Given the description of an element on the screen output the (x, y) to click on. 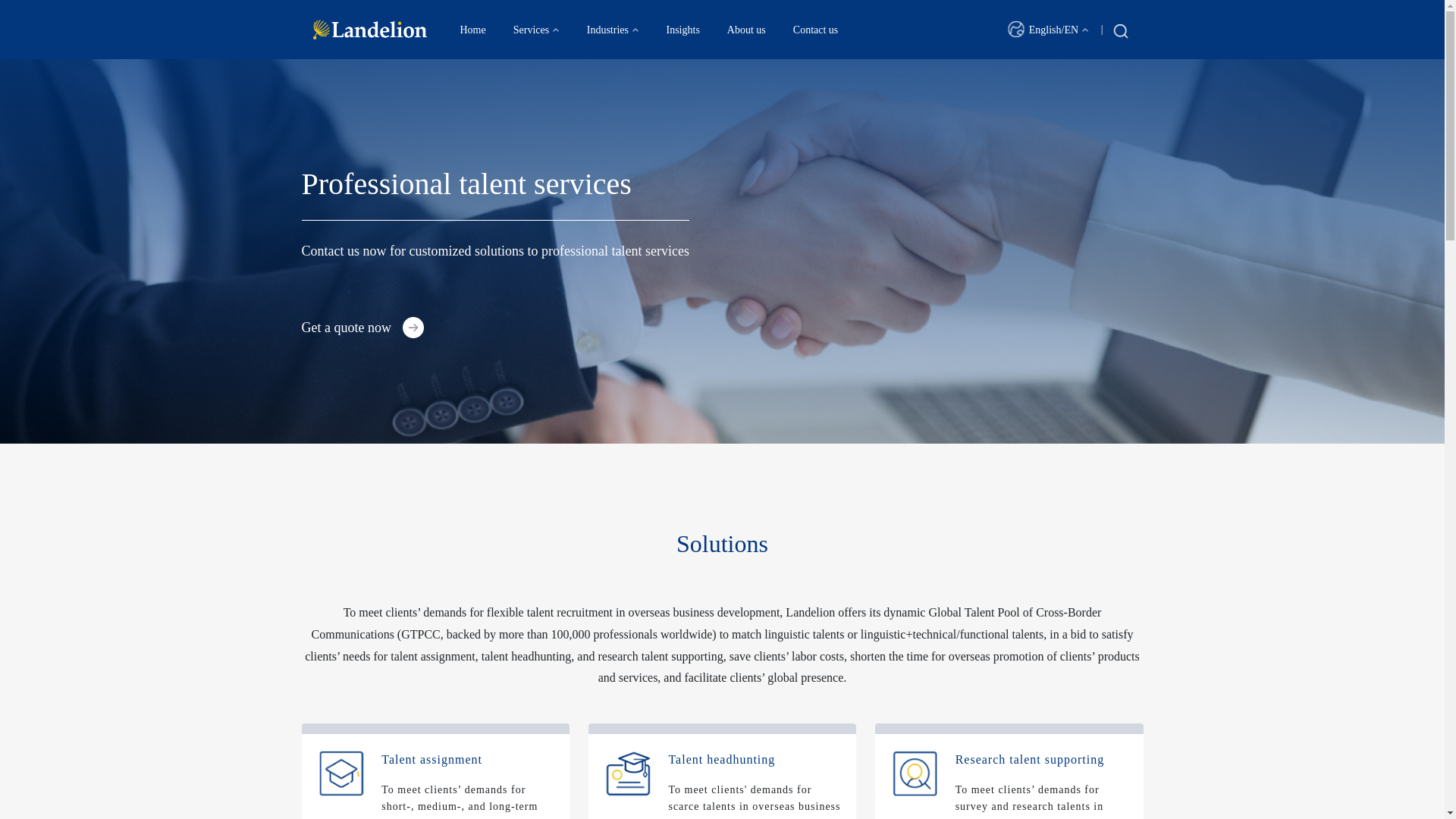
Industries (612, 29)
Services (536, 29)
Home (472, 29)
